Given the description of an element on the screen output the (x, y) to click on. 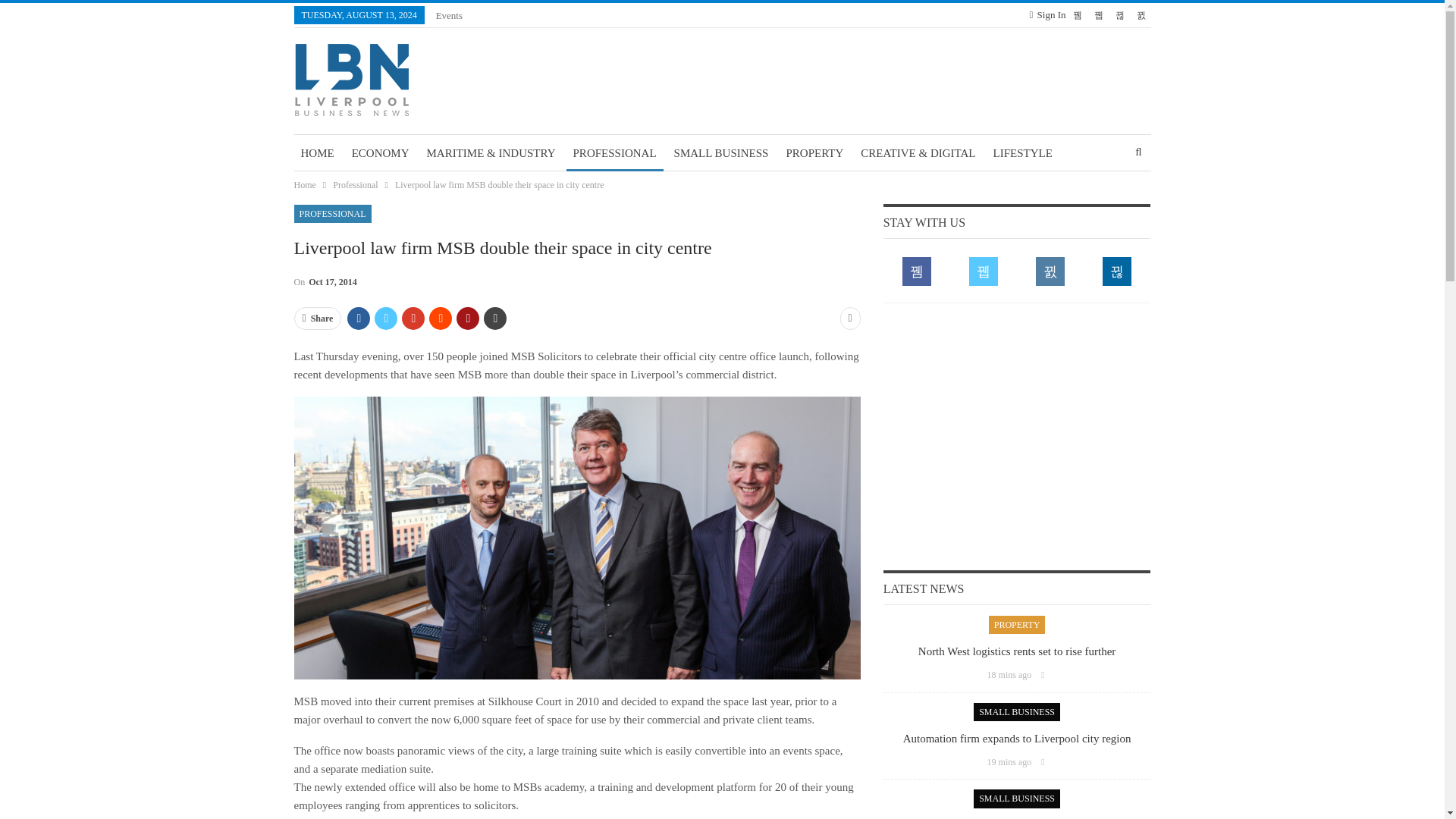
PROFESSIONAL (614, 153)
Advertisement (1016, 436)
HOME (317, 153)
Sign In (1047, 14)
PROPERTY (814, 153)
SMALL BUSINESS (721, 153)
LIFESTYLE (1023, 153)
Events (449, 15)
ECONOMY (380, 153)
